Given the description of an element on the screen output the (x, y) to click on. 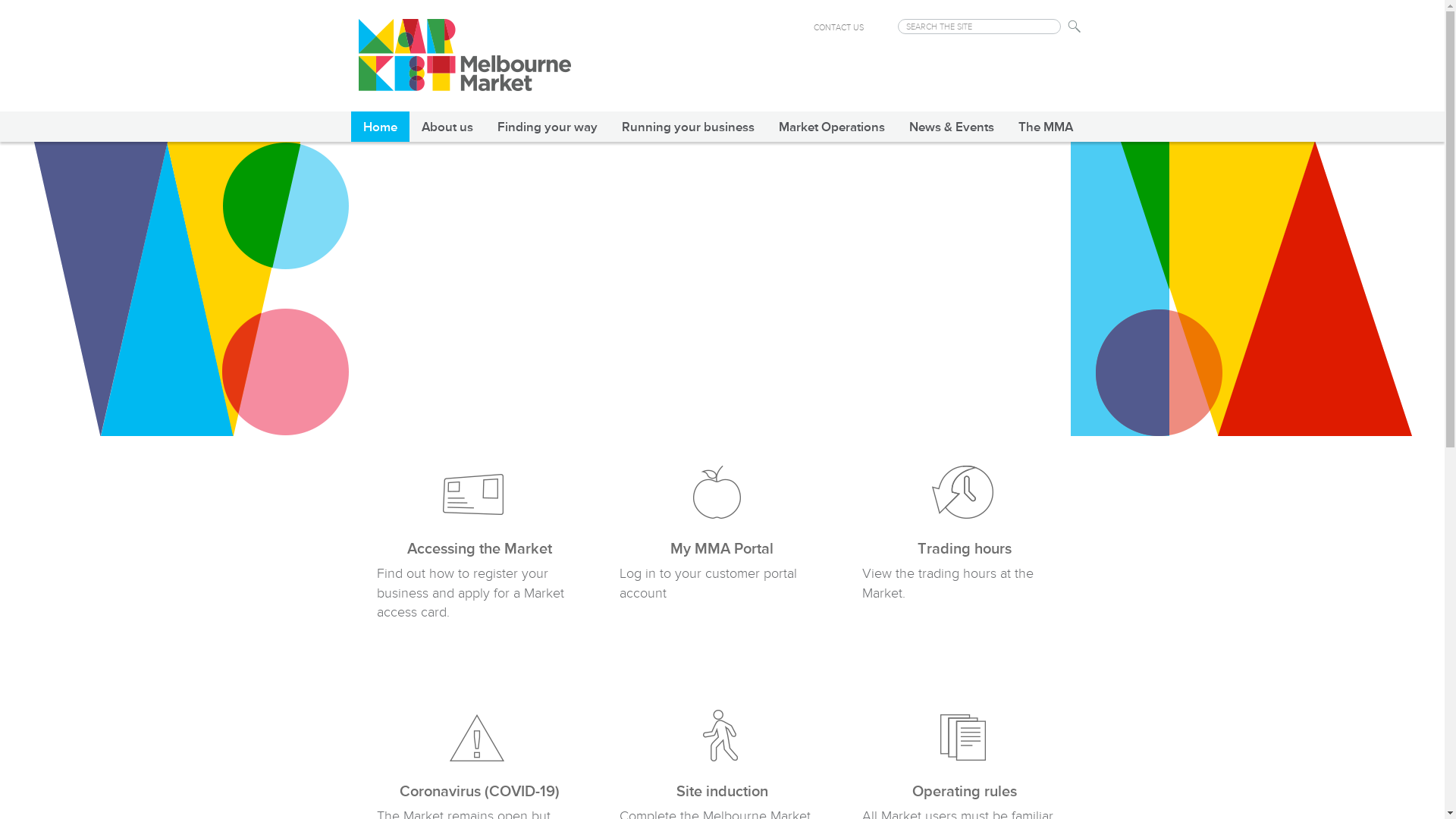
Search Element type: text (1074, 26)
About us Element type: text (447, 126)
The MMA Element type: text (1044, 126)
News & Events Element type: text (950, 126)
Trading hours
View the trading hours at the Market. Element type: text (964, 557)
Running your business Element type: text (687, 126)
Finding your way Element type: text (547, 126)
My MMA Portal
Log in to your customer portal account Element type: text (721, 557)
Home Element type: text (379, 126)
CONTACT US Element type: text (837, 26)
Market Operations Element type: text (830, 126)
